Given the description of an element on the screen output the (x, y) to click on. 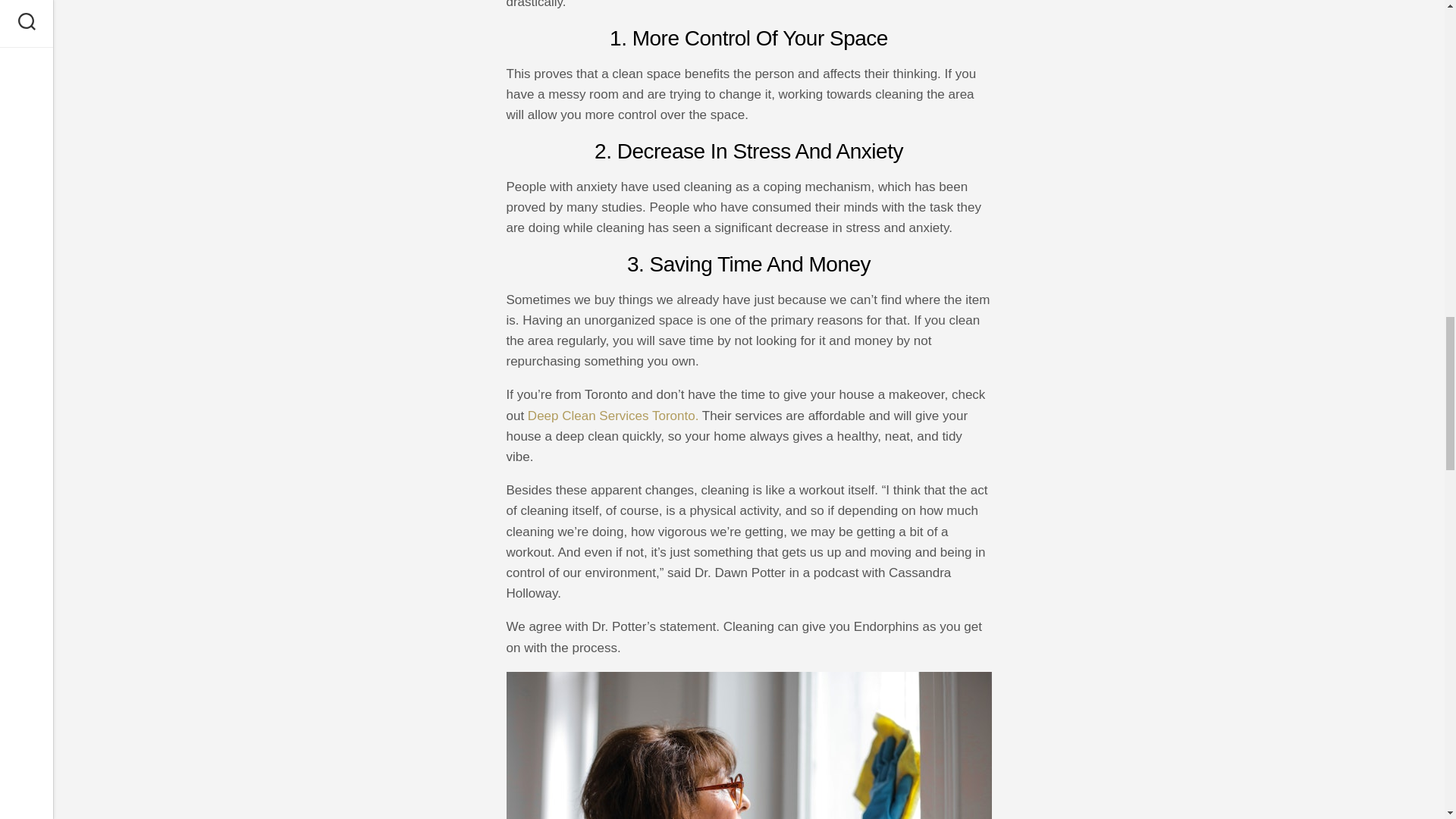
Deep Clean Services Toronto. (612, 415)
